Given the description of an element on the screen output the (x, y) to click on. 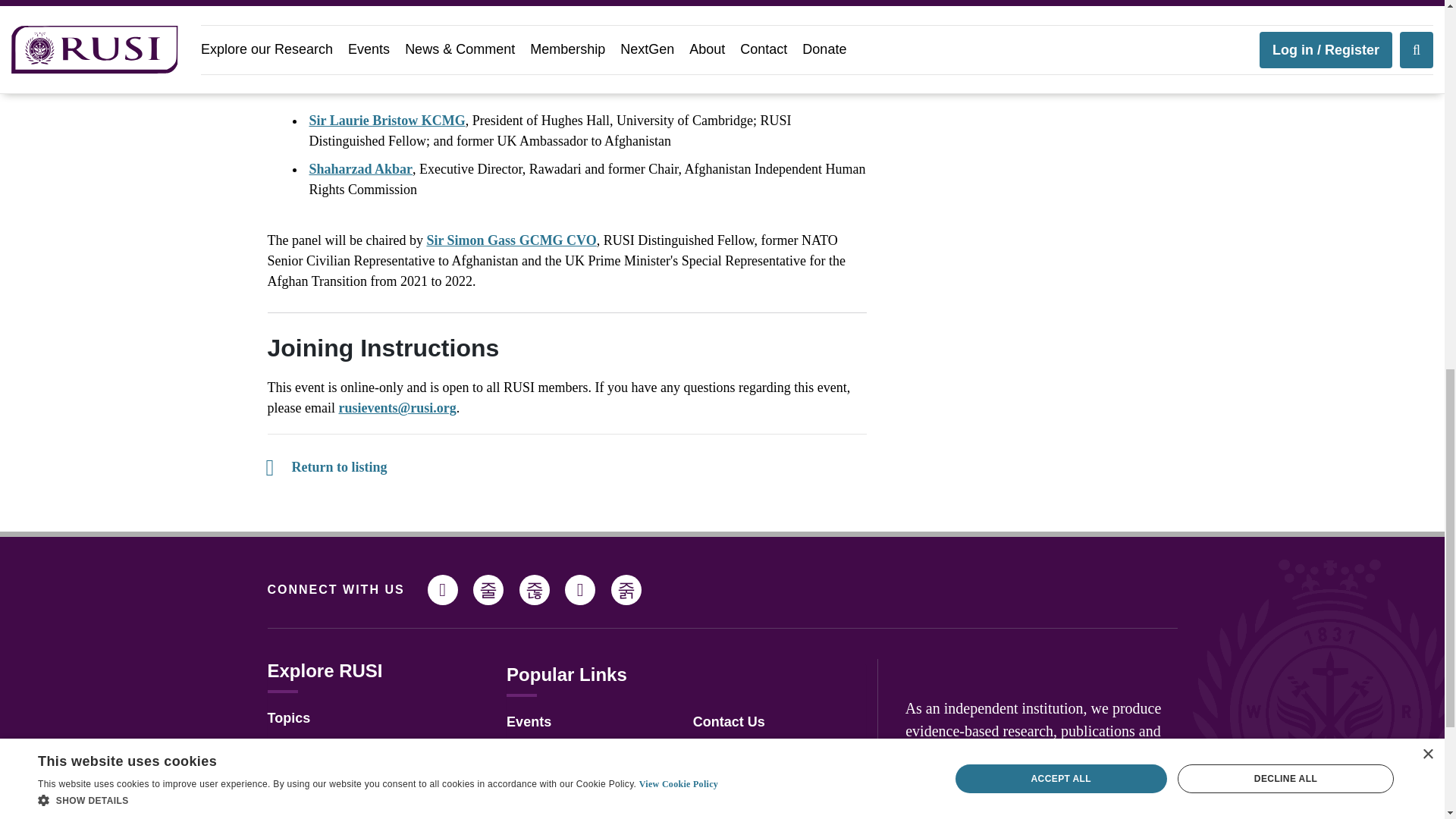
Shaharzad Akbar (360, 168)
Events (528, 721)
Publications (306, 801)
Explore RUSI (323, 670)
Donate (716, 777)
Sir Simon Gass GCMG CVO (510, 240)
Membership (546, 777)
61 Whitehall Venue Hire (770, 806)
Report a problem hotjar survey (749, 749)
Regions (293, 745)
Popular Links (566, 674)
Sir Laurie Bristow KCMG (386, 120)
Topics (288, 717)
Return to listing (326, 467)
